Given the description of an element on the screen output the (x, y) to click on. 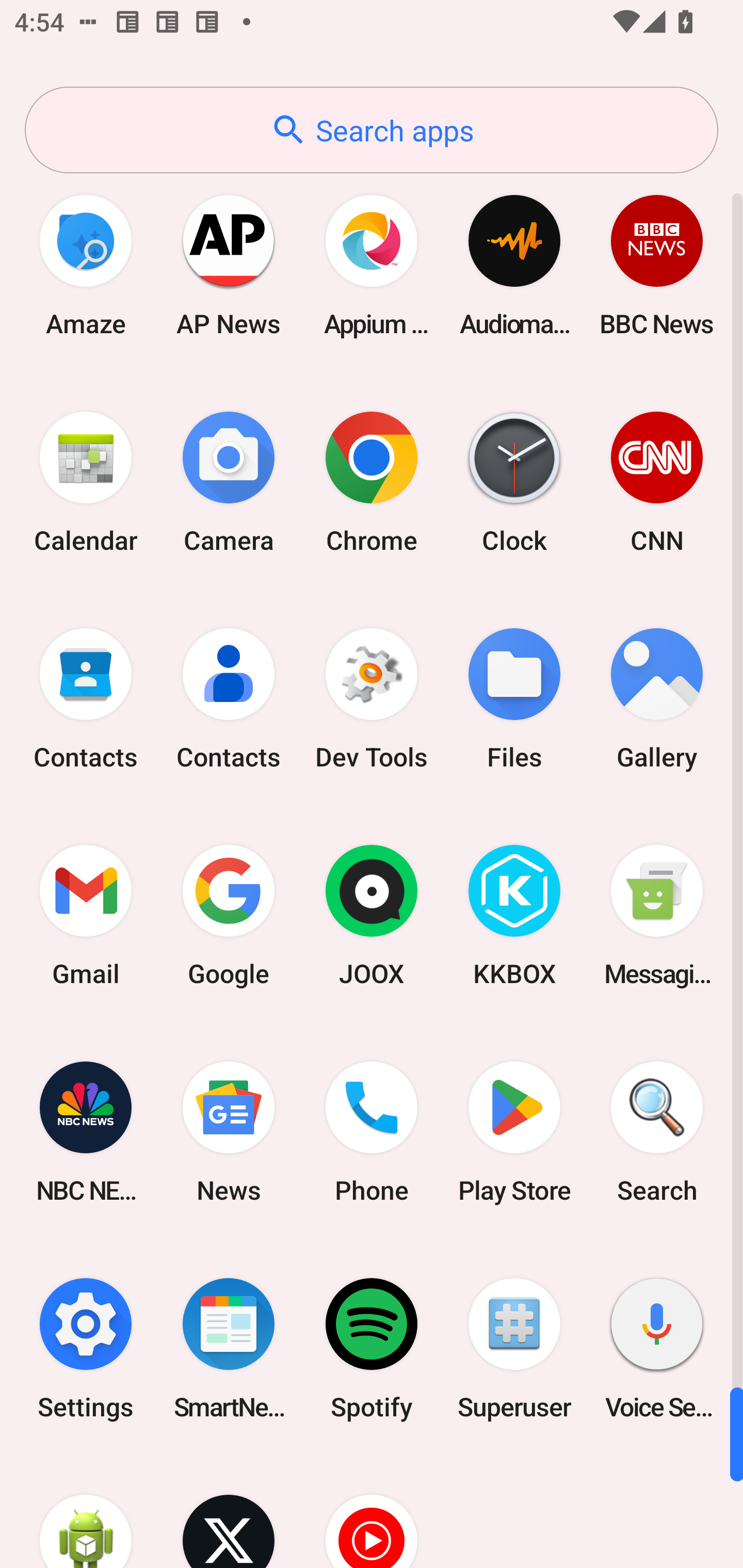
  Search apps (371, 130)
Amaze (85, 264)
AP News (228, 264)
Appium Settings (371, 264)
Audio­mack (514, 264)
BBC News (656, 264)
Calendar (85, 482)
Camera (228, 482)
Chrome (371, 482)
Clock (514, 482)
CNN (656, 482)
Contacts (85, 699)
Contacts (228, 699)
Dev Tools (371, 699)
Files (514, 699)
Gallery (656, 699)
Gmail (85, 915)
Google (228, 915)
JOOX (371, 915)
KKBOX (514, 915)
Messaging (656, 915)
NBC NEWS (85, 1131)
News (228, 1131)
Phone (371, 1131)
Play Store (514, 1131)
Search (656, 1131)
Settings (85, 1348)
SmartNews (228, 1348)
Spotify (371, 1348)
Superuser (514, 1348)
Voice Search (656, 1348)
WebView Browser Tester (85, 1512)
X (228, 1512)
YT Music (371, 1512)
